Given the description of an element on the screen output the (x, y) to click on. 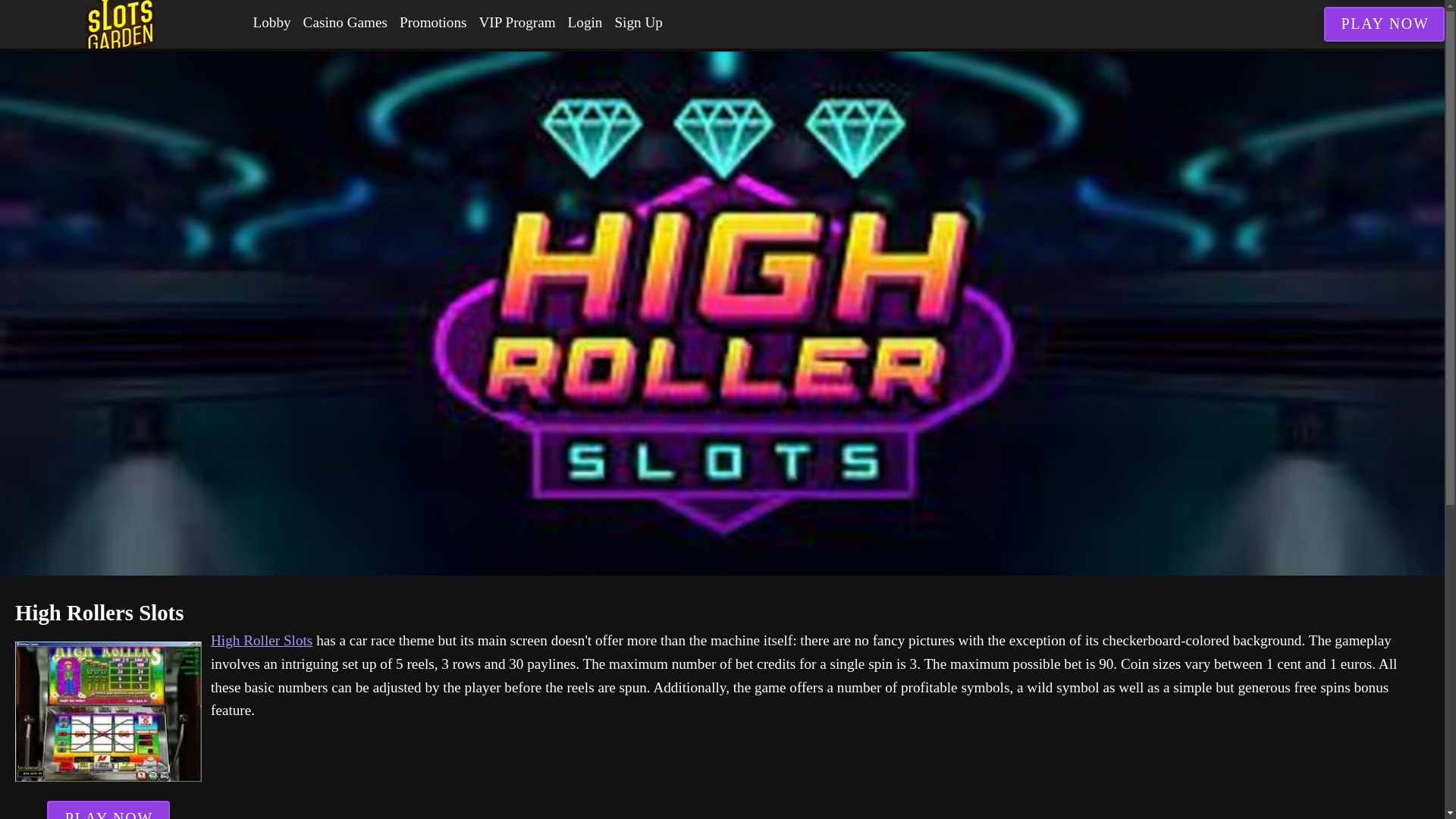
VIP Program (517, 22)
Lobby (272, 22)
Casino Games (345, 22)
Promotions (433, 22)
PLAY NOW (108, 809)
Login (585, 22)
Sign Up (638, 22)
High Roller Slots (262, 640)
